Given the description of an element on the screen output the (x, y) to click on. 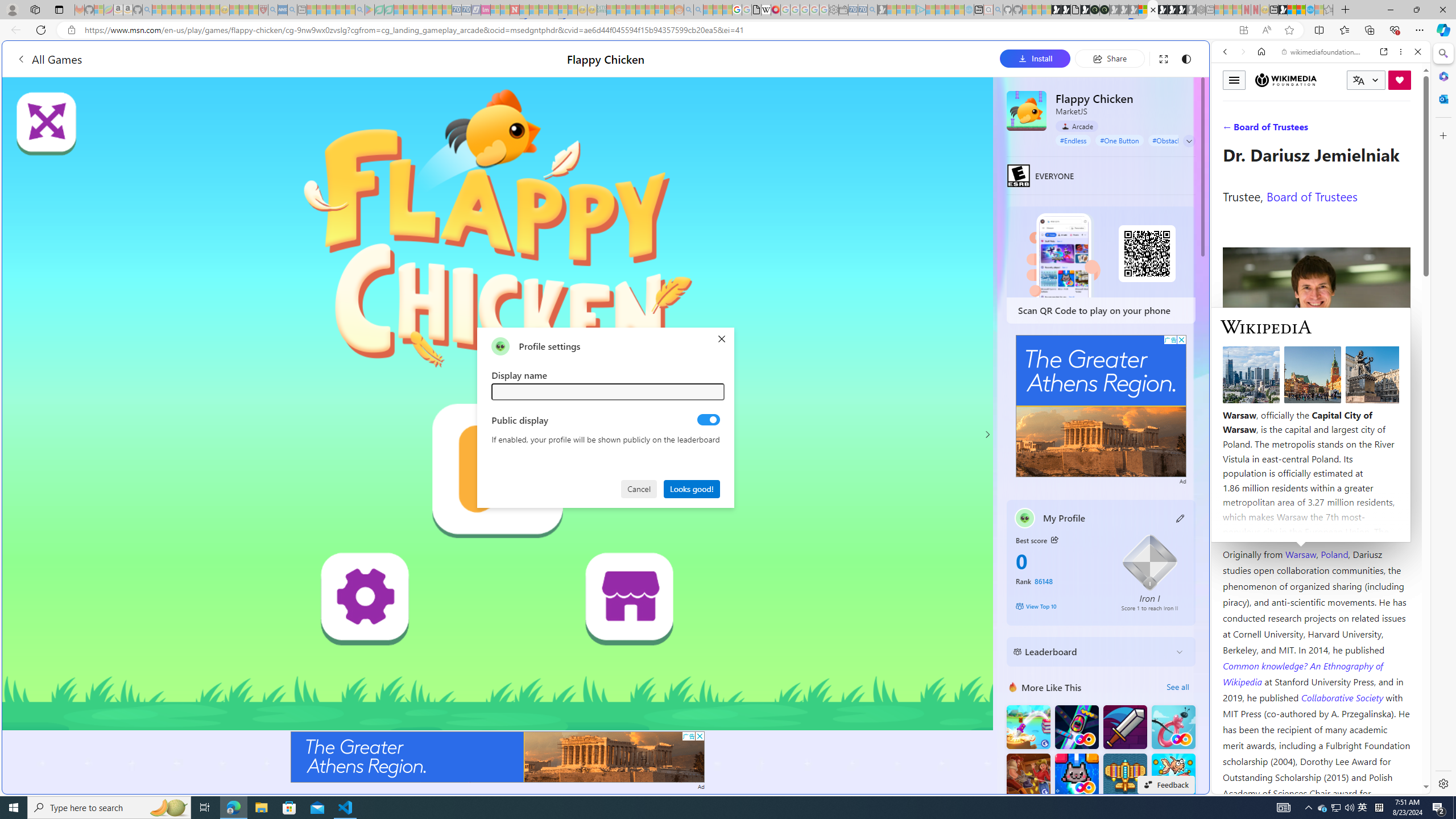
Kitten Force FRVR (1076, 775)
MSNBC - MSN - Sleeping (611, 9)
Class: button (1053, 539)
New tab - Sleeping (1210, 9)
Common knowledge? An Ethnography of Wikipedia (1302, 672)
AutomationID: canvas (497, 403)
See all (1177, 687)
Search Filter, WEB (1230, 129)
Saloon Robbery (1028, 775)
More Like This (1012, 686)
